Given the description of an element on the screen output the (x, y) to click on. 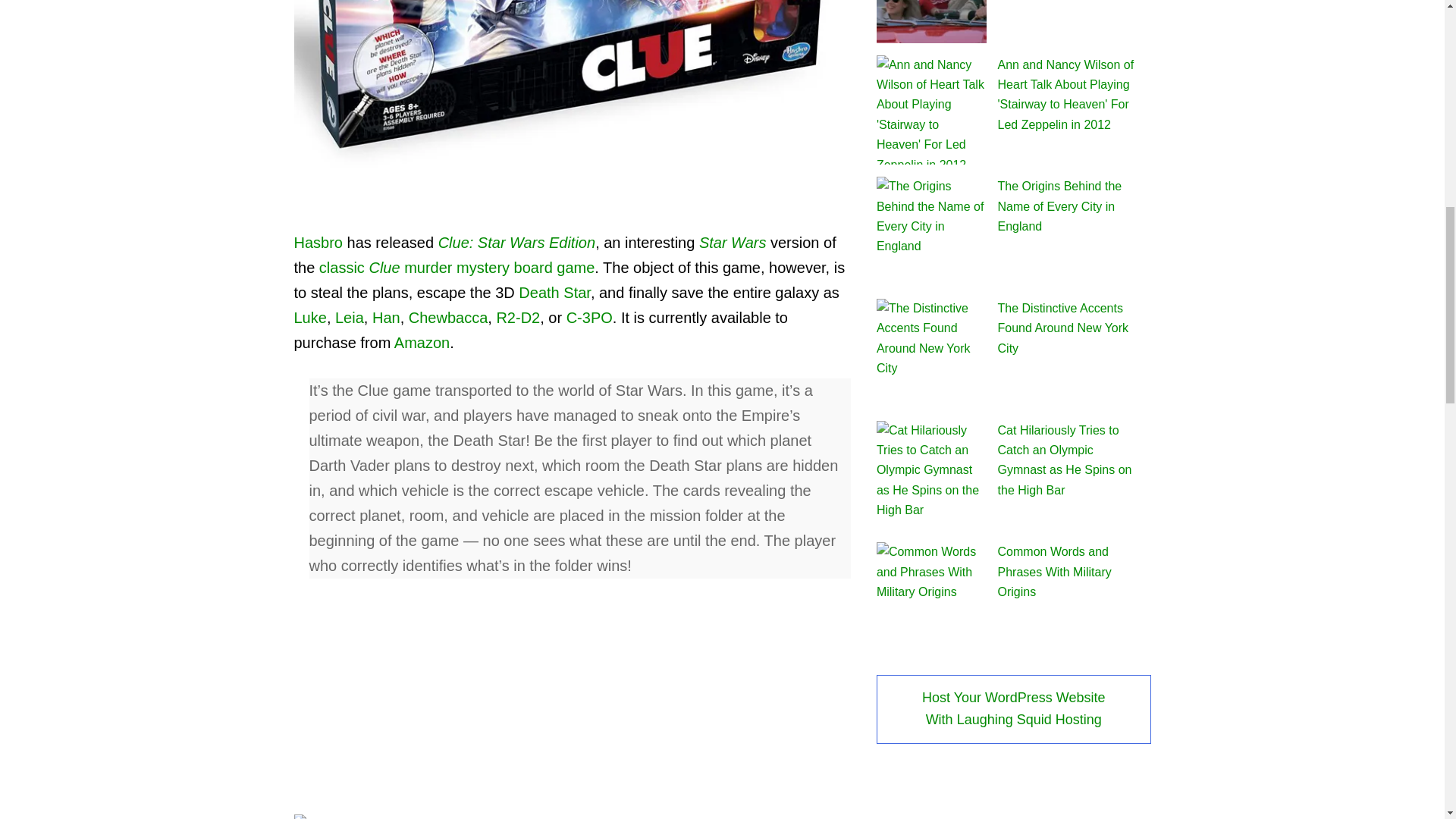
Clue: Star Wars Edition (516, 242)
Hasbro (318, 242)
Luke (310, 317)
Leia (349, 317)
Death Star (554, 292)
The Origins Behind the Name of Every City in England (1059, 205)
Han (386, 317)
The Distinctive Accents Found Around New York City (1063, 328)
Star Wars (732, 242)
classic Clue murder mystery board game (456, 267)
